Given the description of an element on the screen output the (x, y) to click on. 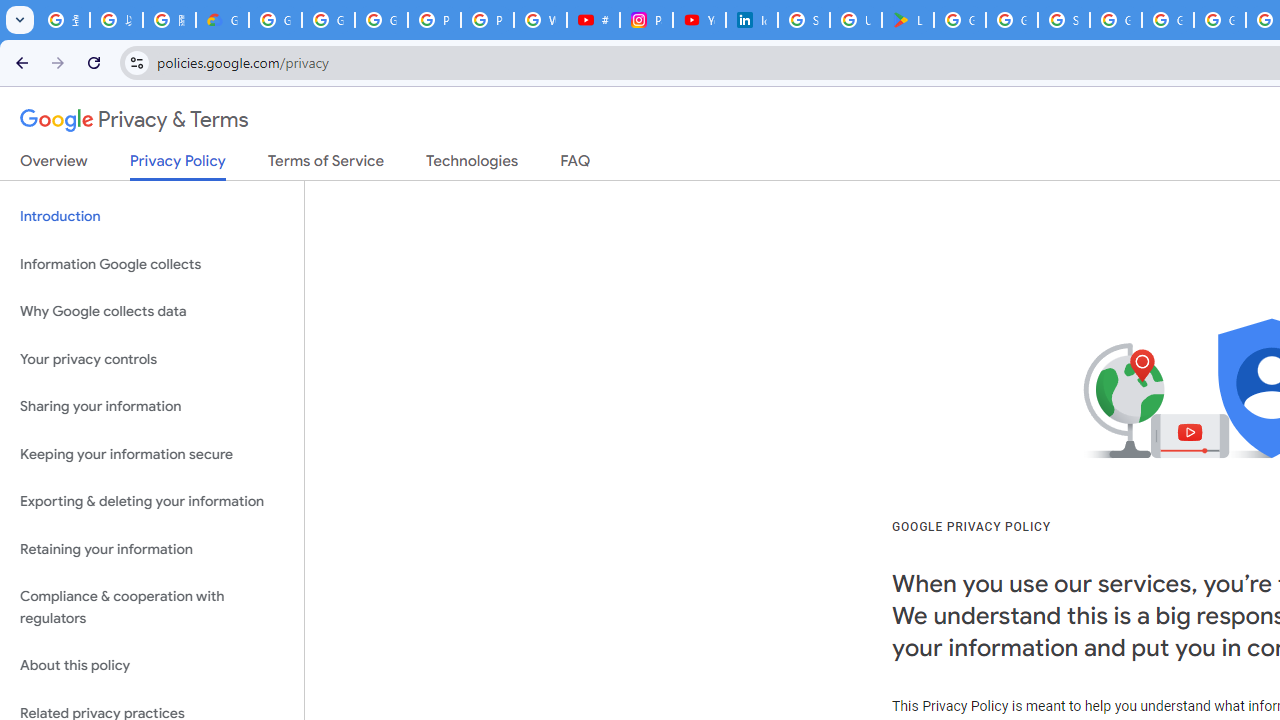
YouTube Culture & Trends - On The Rise: Handcam Videos (699, 20)
Privacy Help Center - Policies Help (487, 20)
